Given the description of an element on the screen output the (x, y) to click on. 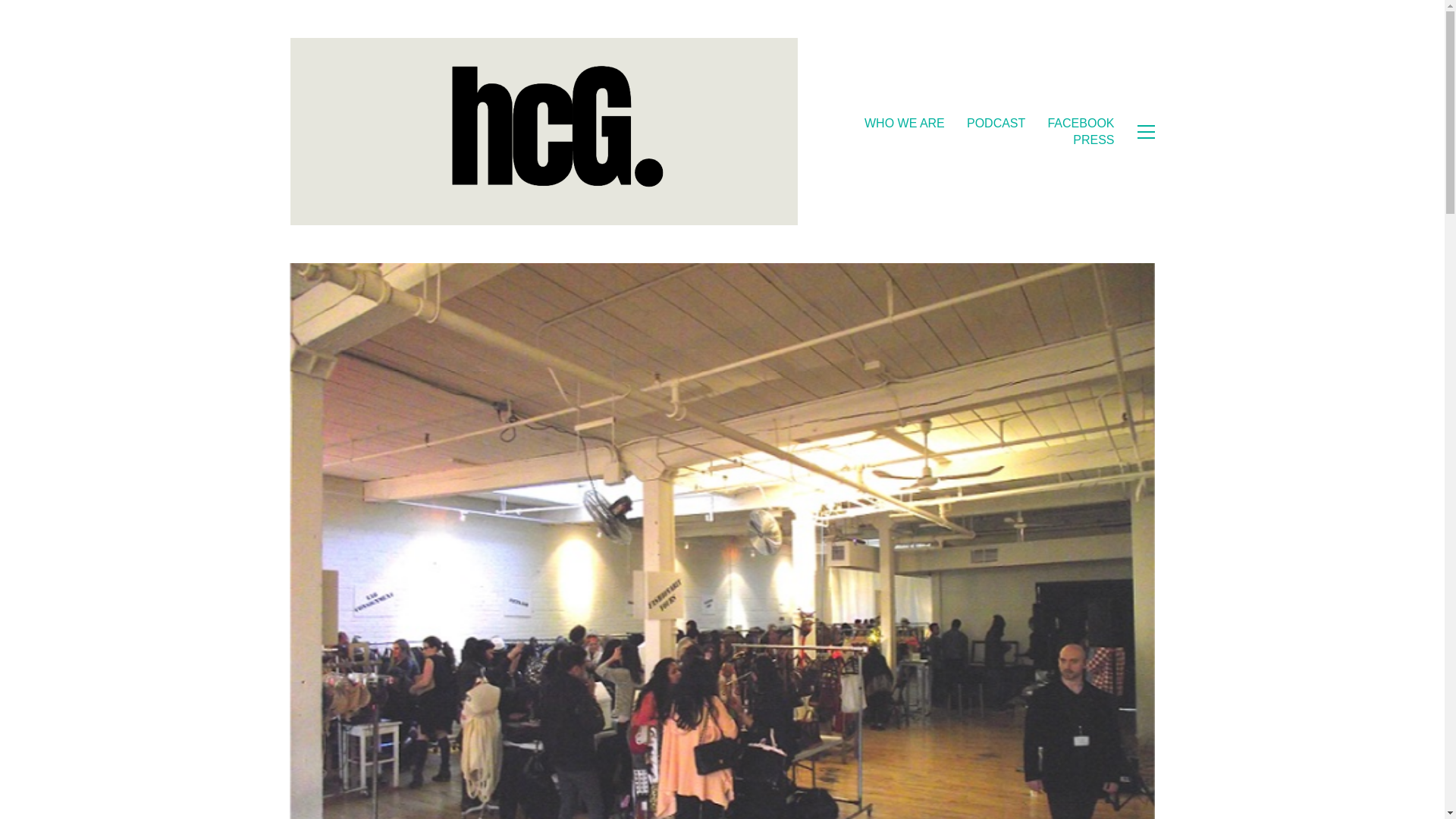
YouTube (674, 739)
Twitter (628, 739)
Facebook (579, 739)
MUSIC (240, 623)
FACEBOOK (1079, 123)
WHO WE ARE (904, 123)
Facebook (579, 739)
Pinterest (726, 739)
PODCAST (995, 123)
SoundCloud (847, 739)
Instagram (782, 739)
Twitter (628, 739)
PRESS (1093, 139)
